Given the description of an element on the screen output the (x, y) to click on. 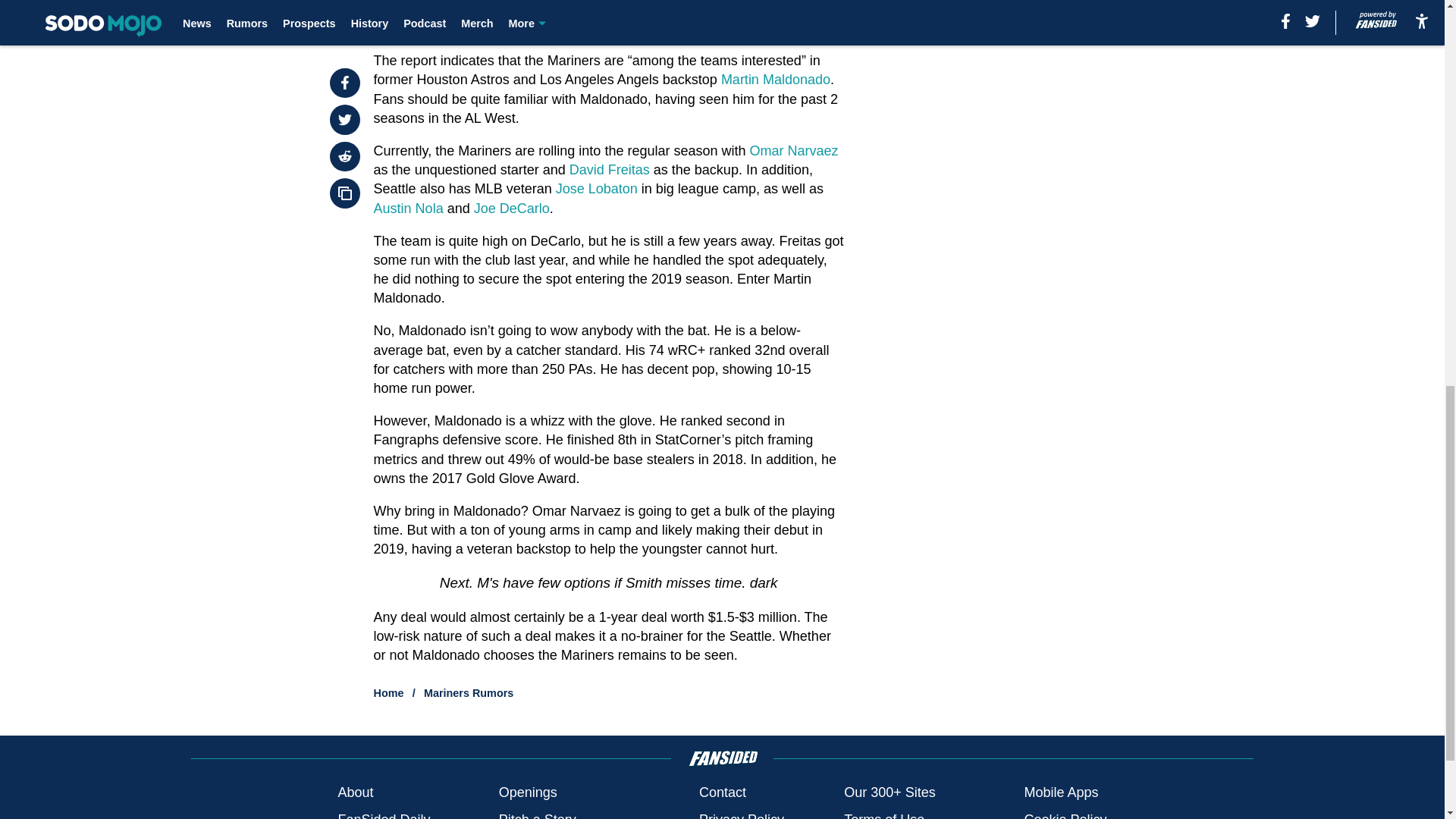
Martin Maldonado (774, 79)
Joe DeCarlo (512, 208)
David Freitas (609, 169)
Austin Nola (409, 208)
Jose Lobaton (596, 188)
Home (389, 693)
Omar Narvaez (793, 150)
Mariners Rumors (468, 693)
